Given the description of an element on the screen output the (x, y) to click on. 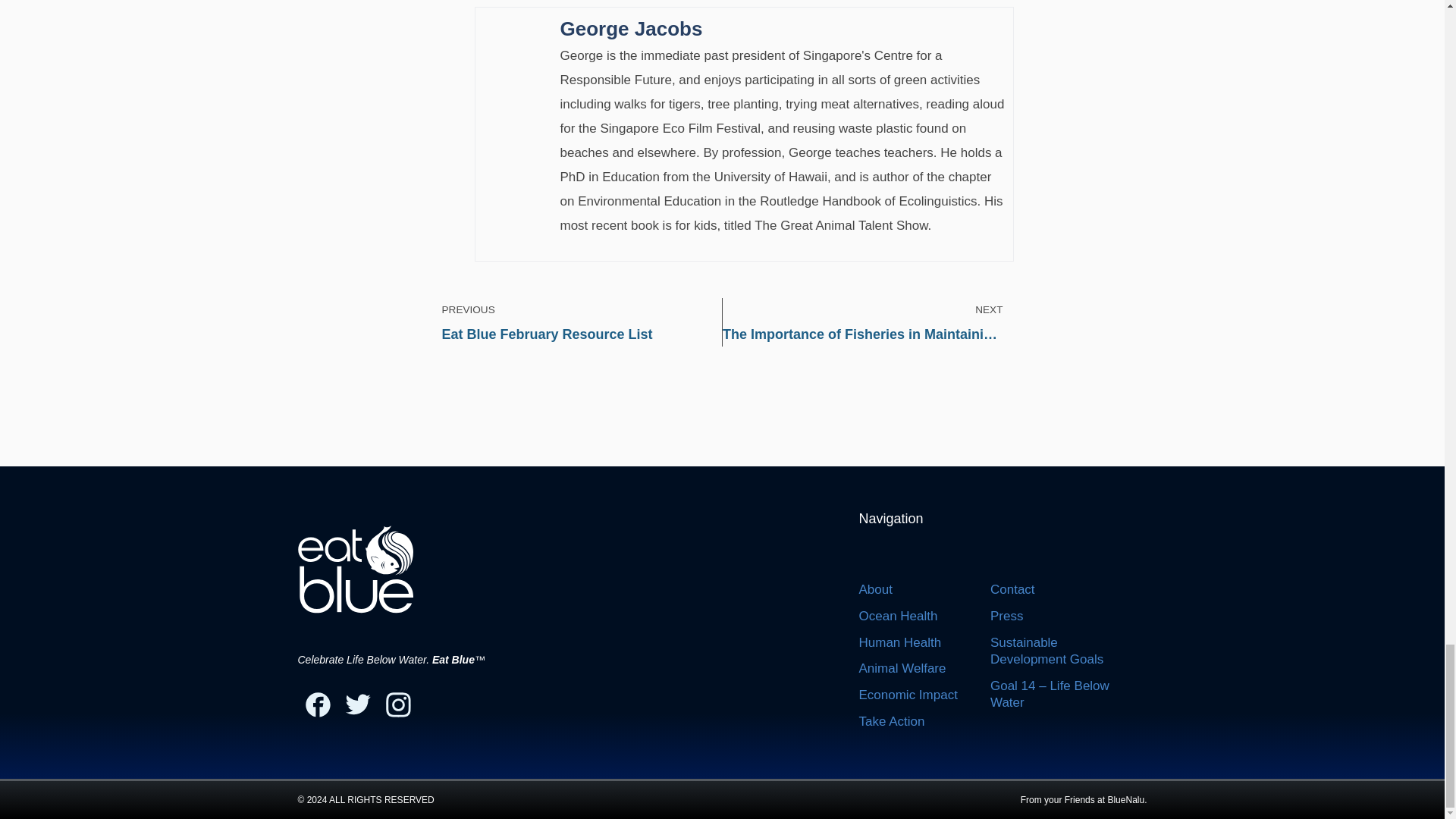
George Jacobs (782, 28)
